Given the description of an element on the screen output the (x, y) to click on. 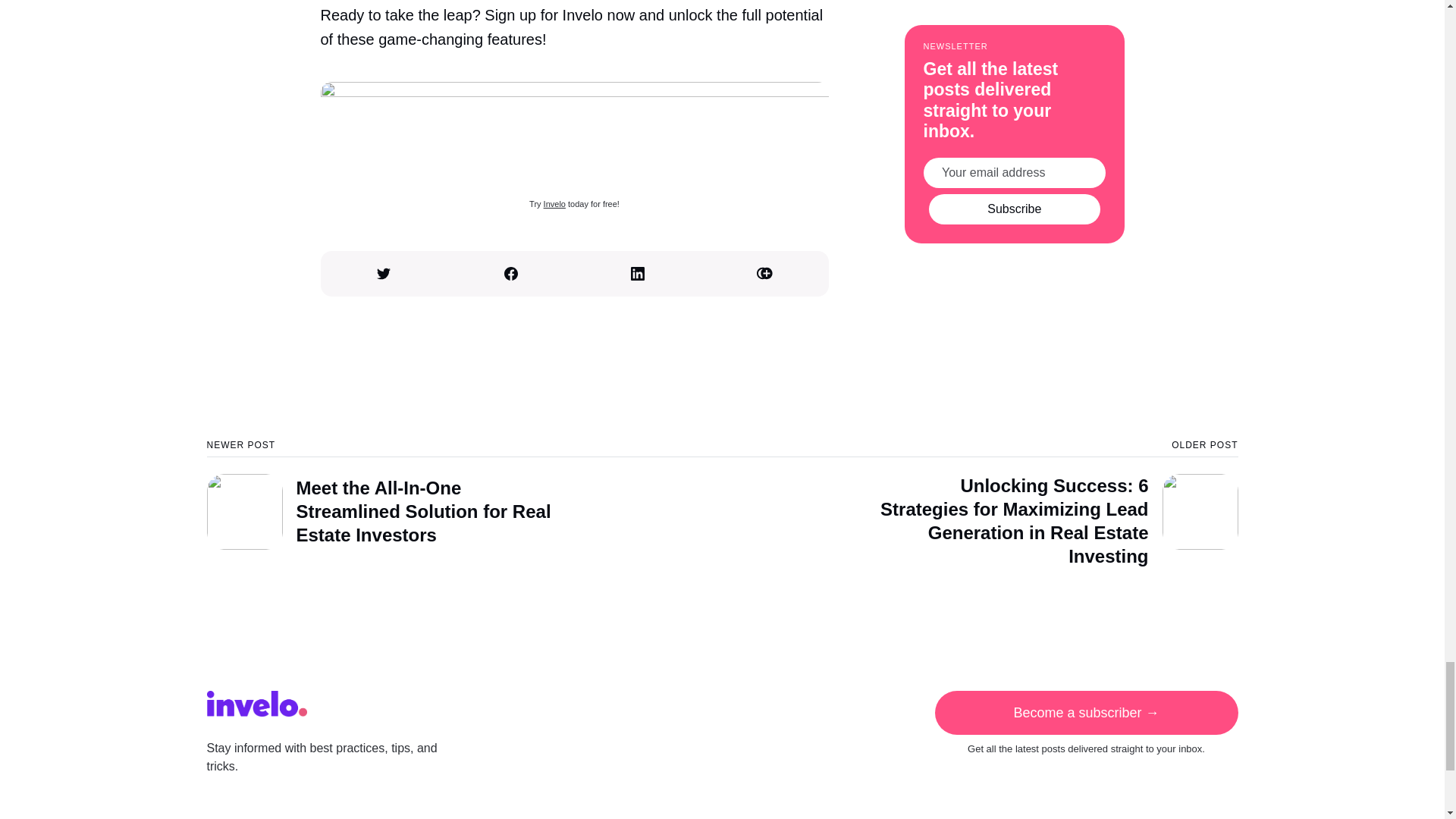
Invelo (554, 203)
